Given the description of an element on the screen output the (x, y) to click on. 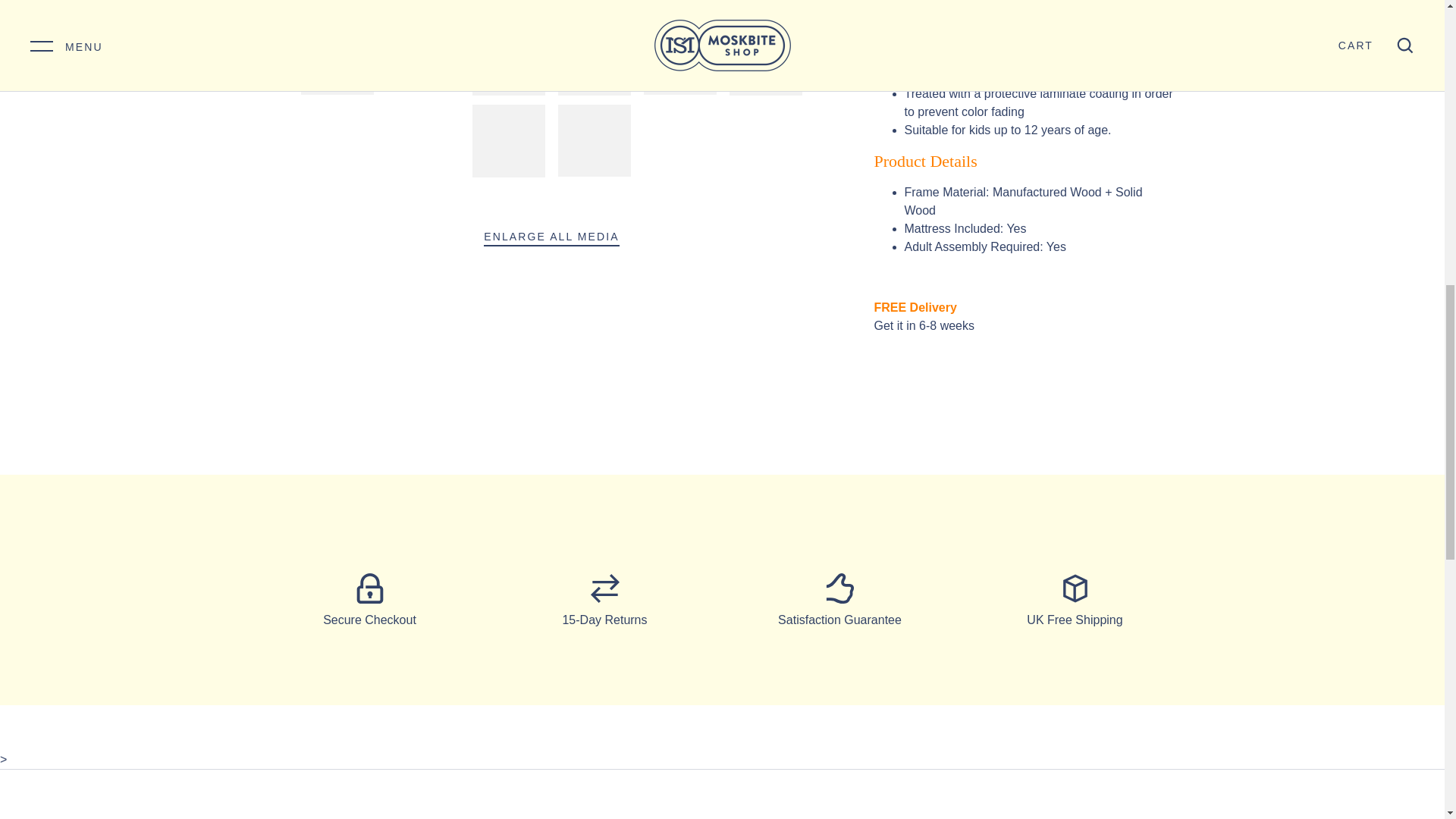
Toddler Bed and Mattress - MOSKBITE (423, 7)
Toddler Bed and Mattress - MOSKBITE (509, 7)
Toddler Bed and Mattress - MOSKBITE (337, 7)
